Given the description of an element on the screen output the (x, y) to click on. 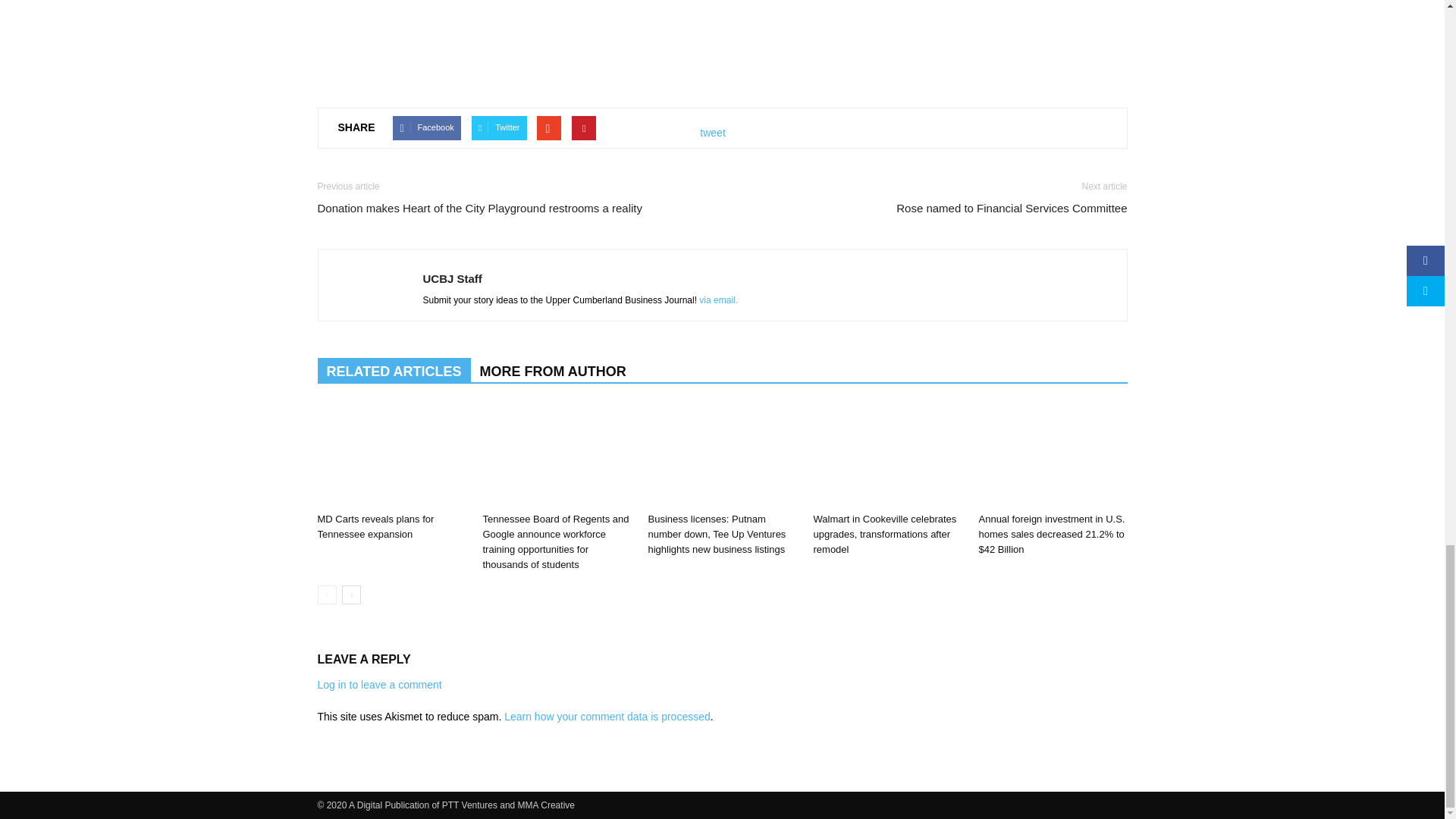
MD Carts reveals plans for Tennessee expansion (375, 526)
MD Carts reveals plans for Tennessee expansion (391, 455)
